Given the description of an element on the screen output the (x, y) to click on. 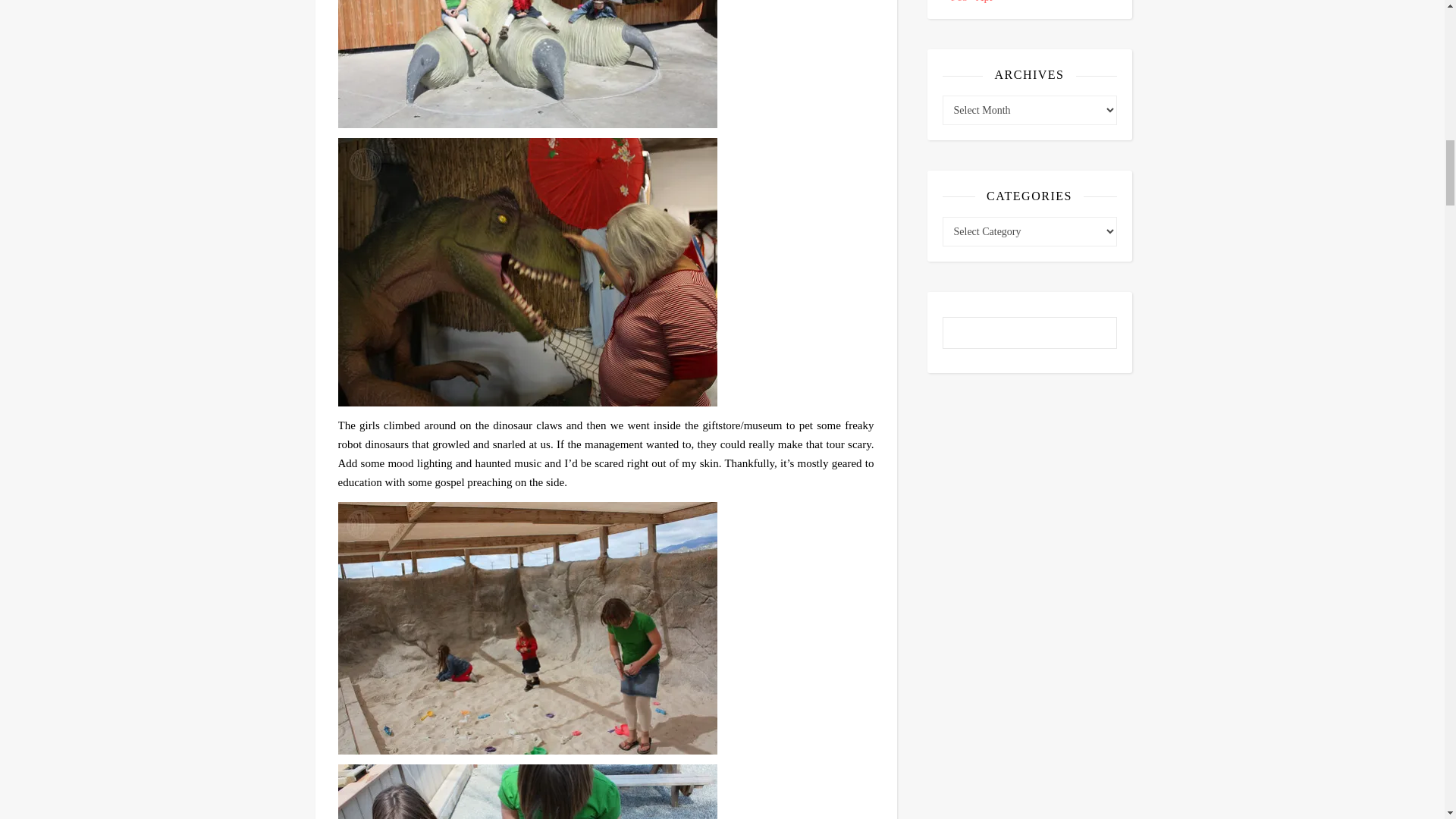
claws by secret agent josephine, on Flickr (606, 63)
slucing by secret agent josephine, on Flickr (606, 791)
